Given the description of an element on the screen output the (x, y) to click on. 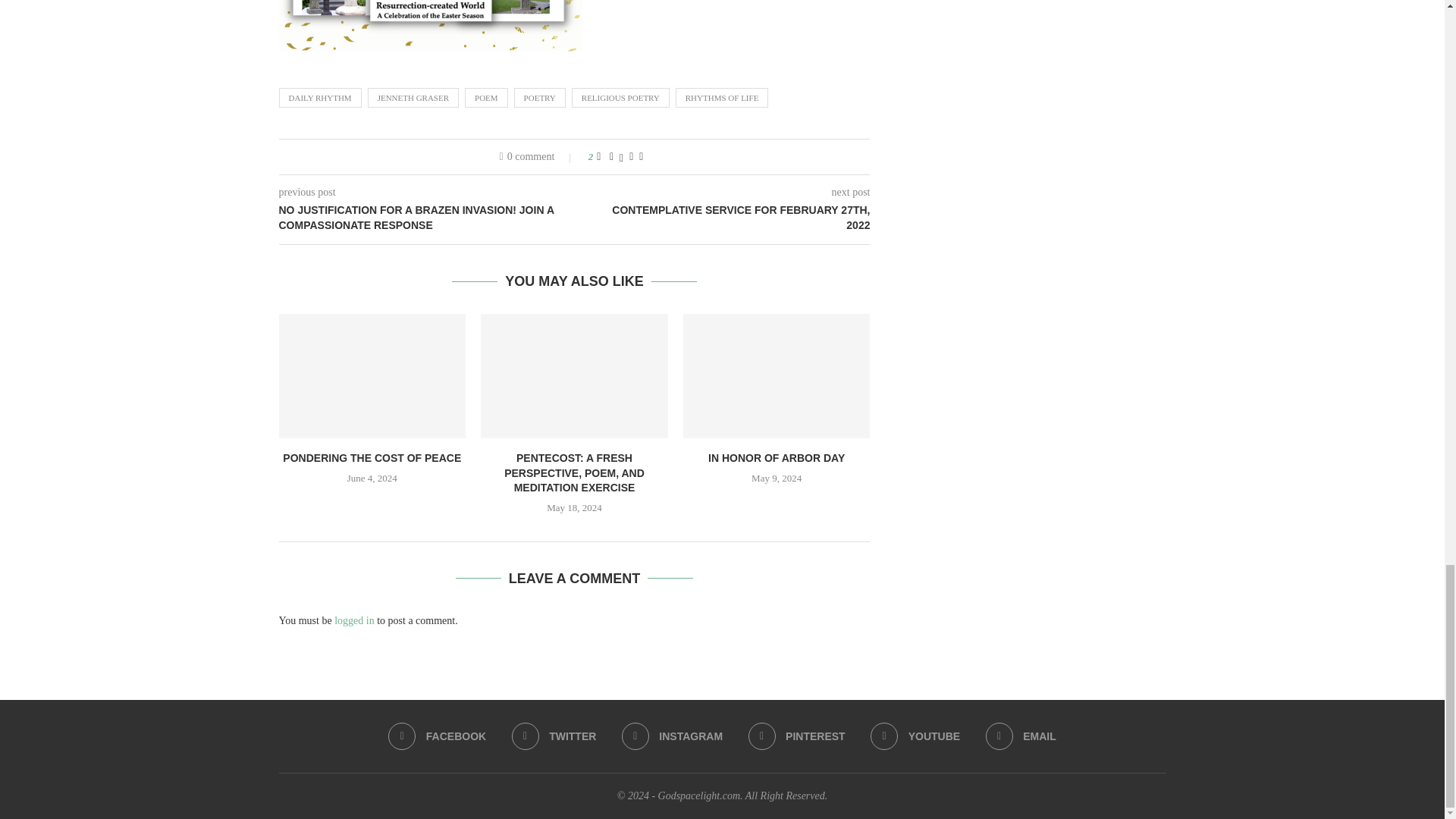
Blog Ads 400 x 400 28 (430, 25)
Pondering the Cost of Peace (372, 375)
In Honor of Arbor Day (776, 375)
